Given the description of an element on the screen output the (x, y) to click on. 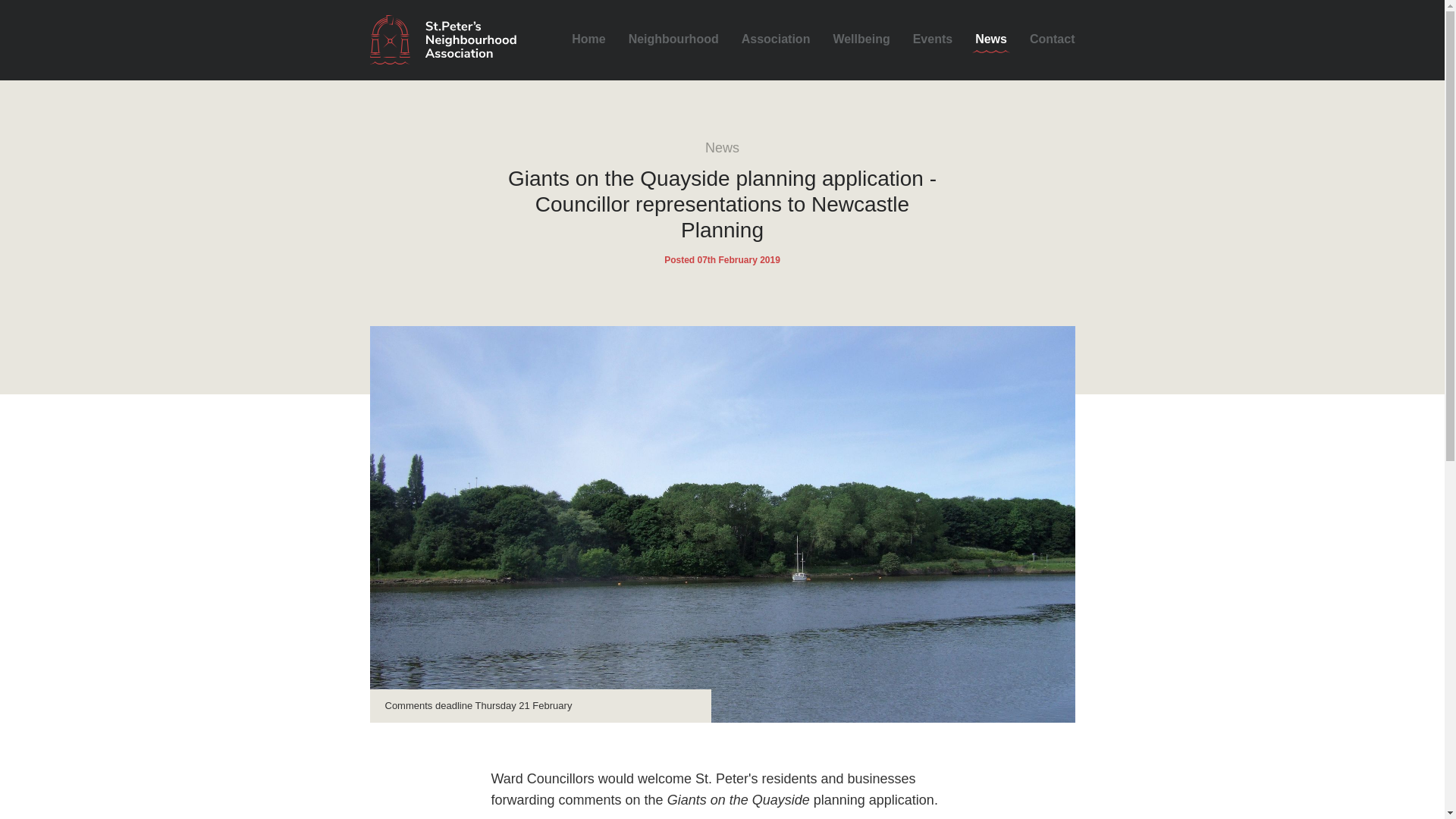
Contact (1052, 42)
News (991, 42)
Association (775, 42)
Home (588, 42)
Wellbeing (860, 42)
Events (932, 42)
Neighbourhood (673, 42)
